Given the description of an element on the screen output the (x, y) to click on. 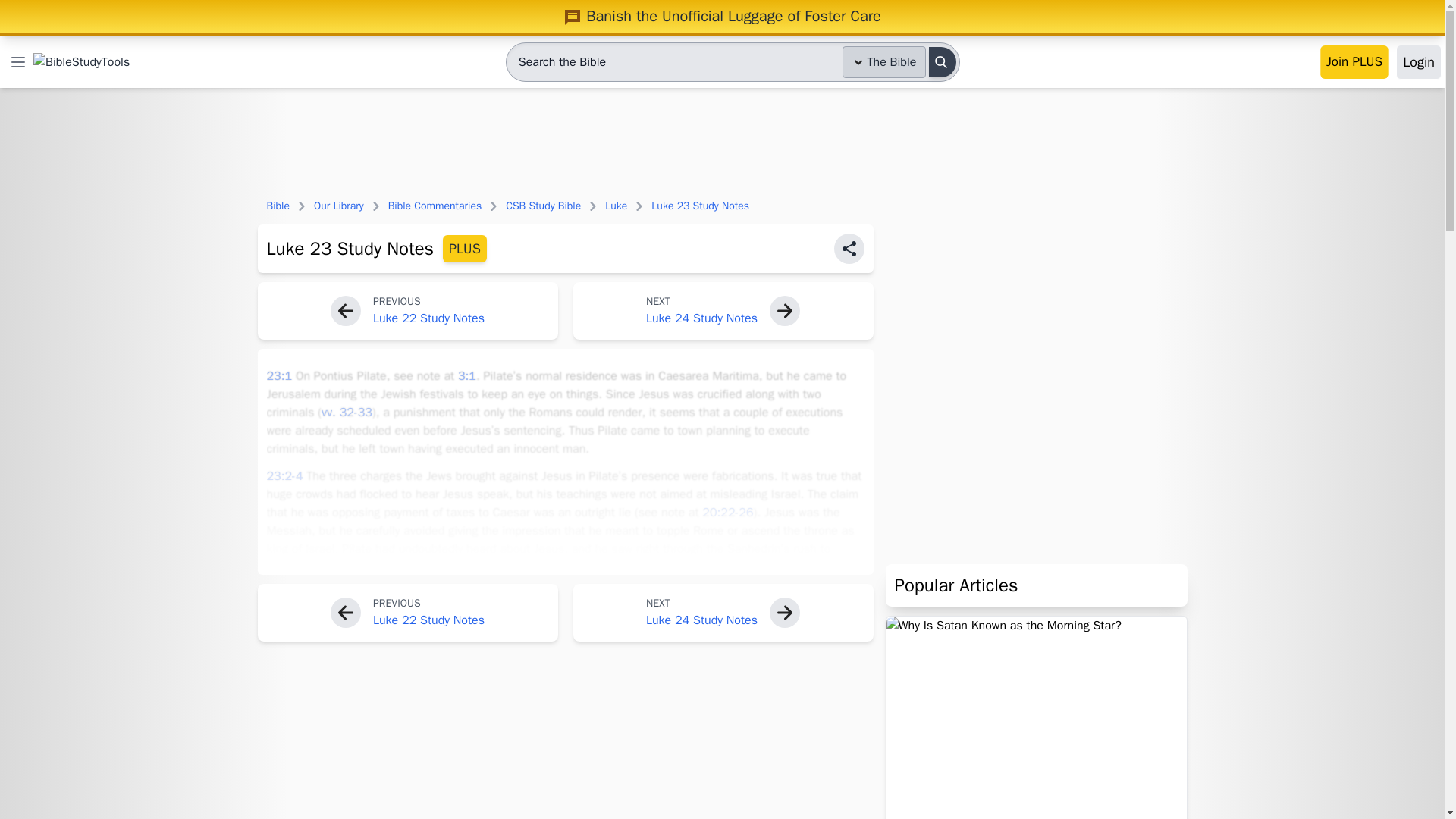
Join PLUS (1354, 62)
The Bible (884, 61)
Banish the Unofficial Luggage of Foster Care (721, 16)
Login (1418, 62)
